Given the description of an element on the screen output the (x, y) to click on. 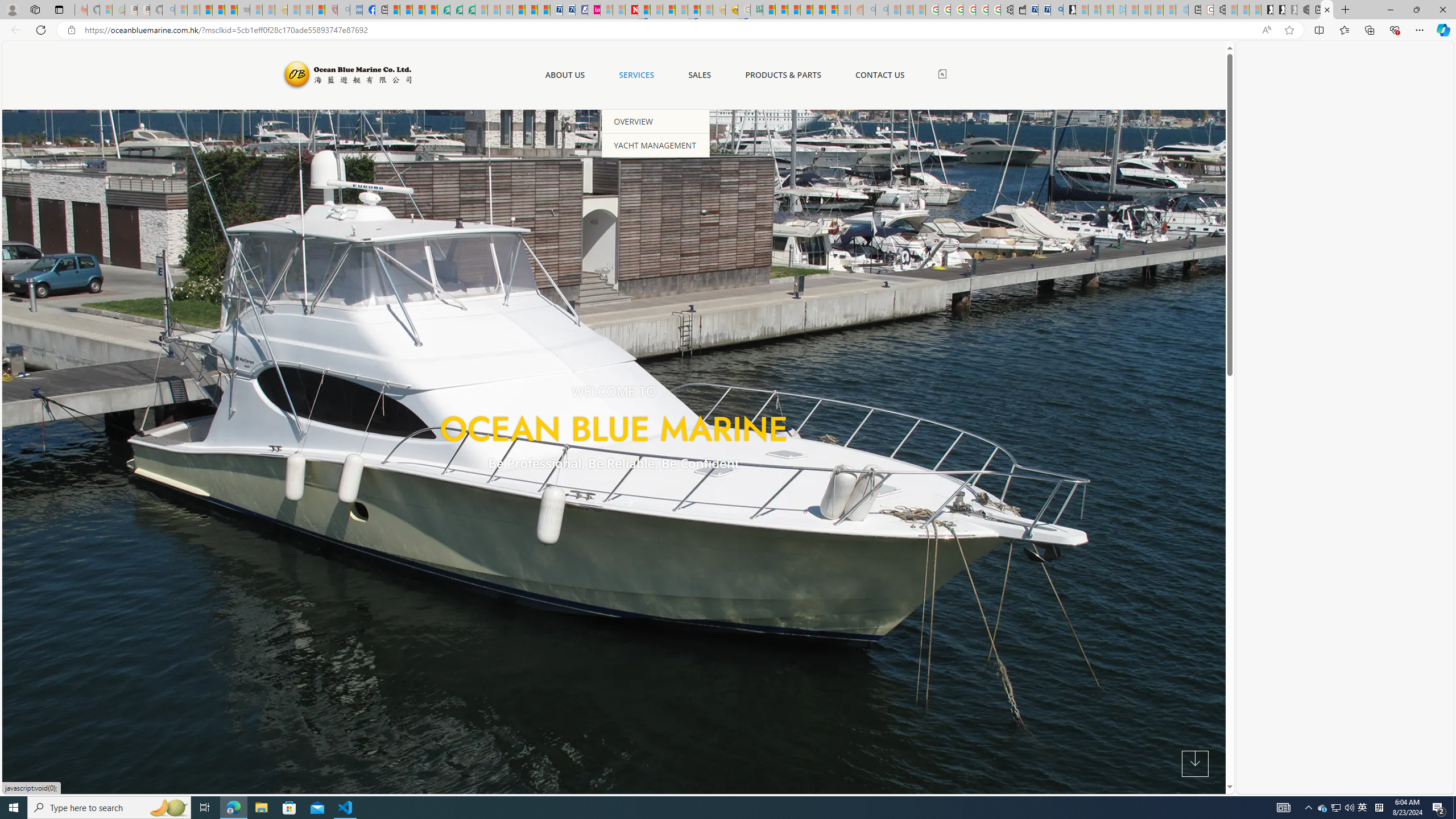
Bing Real Estate - Home sales and rental listings (1056, 9)
PRODUCTS & PARTS (783, 74)
SERVICESOVERVIEWYACHT MANAGEMENT (636, 74)
